Given the description of an element on the screen output the (x, y) to click on. 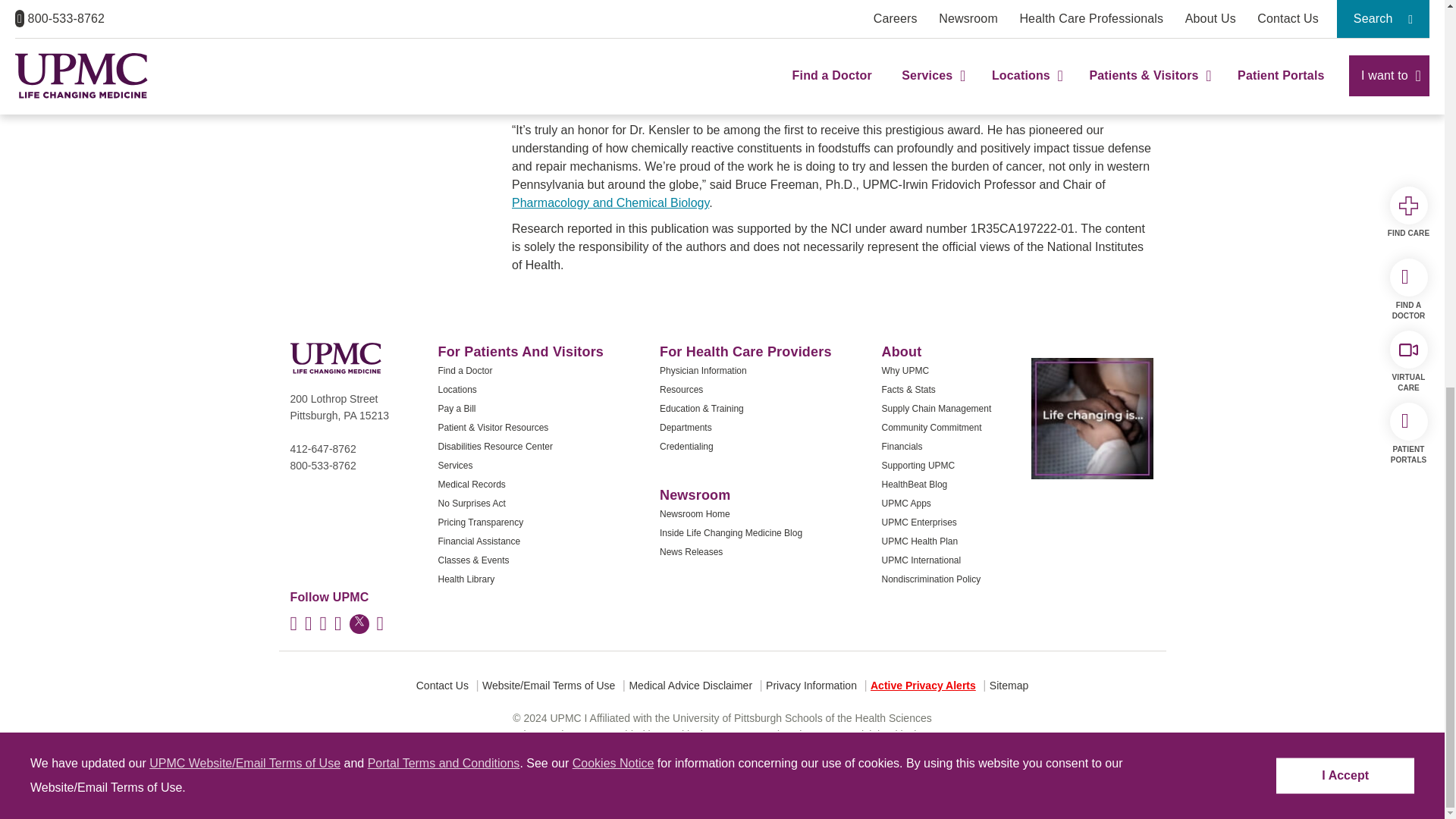
I Accept (1344, 42)
Cookies Notice (612, 29)
Portal Terms and Conditions (443, 29)
